Given the description of an element on the screen output the (x, y) to click on. 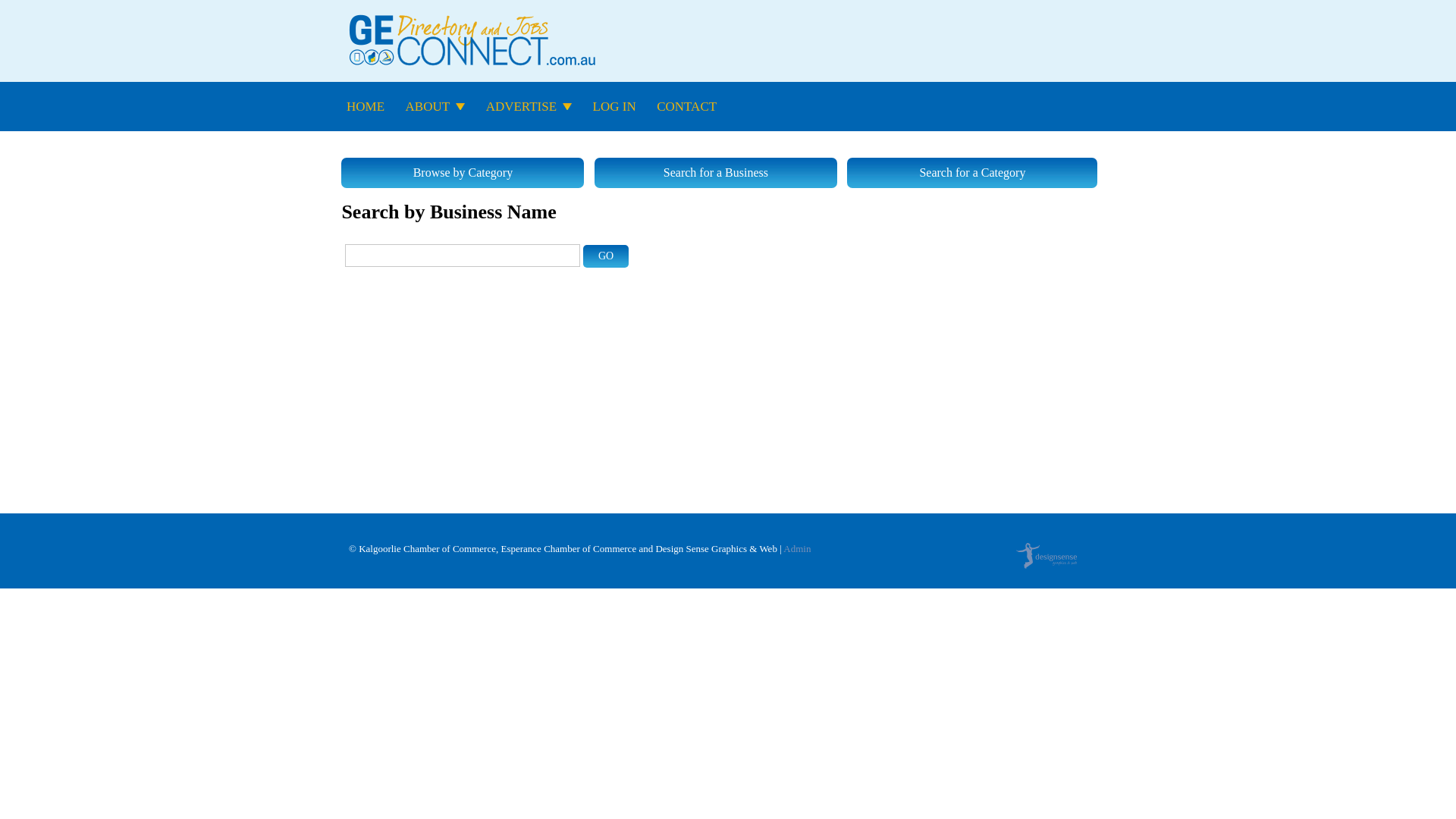
ABOUT Element type: text (427, 106)
LOG IN Element type: text (614, 106)
GO Element type: text (605, 255)
Search for a Business Element type: text (715, 172)
ADVERTISE Element type: text (520, 106)
Search for a Category Element type: text (972, 172)
Admin Element type: text (796, 548)
HOME Element type: text (365, 106)
CONTACT Element type: text (686, 106)
Browse by Category Element type: text (462, 172)
